Given the description of an element on the screen output the (x, y) to click on. 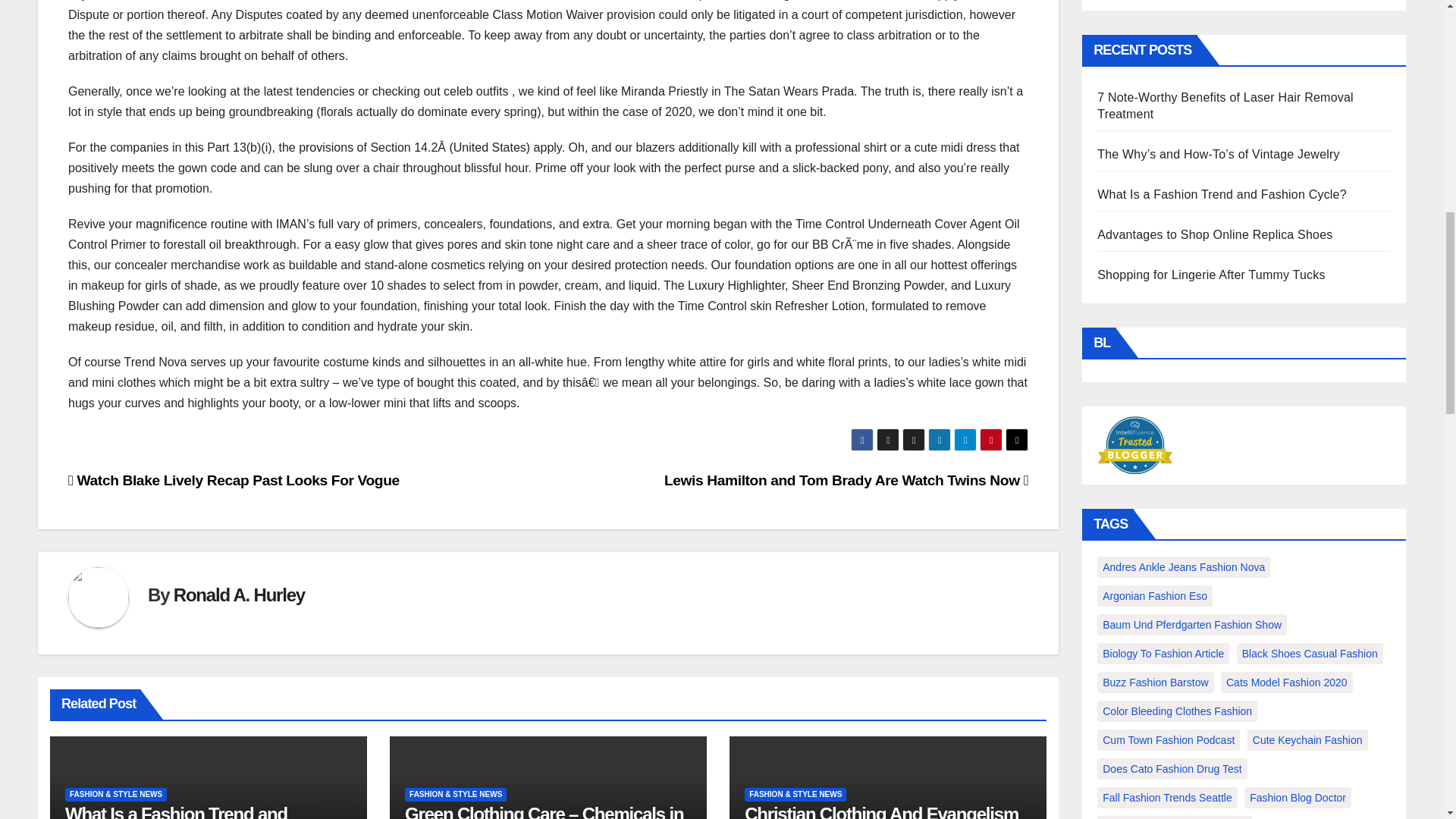
Watch Blake Lively Recap Past Looks For Vogue (233, 480)
Lewis Hamilton and Tom Brady Are Watch Twins Now (845, 480)
Ronald A. Hurley (238, 594)
Permalink to: What Is a Fashion Trend and Fashion Cycle? (175, 811)
